Given the description of an element on the screen output the (x, y) to click on. 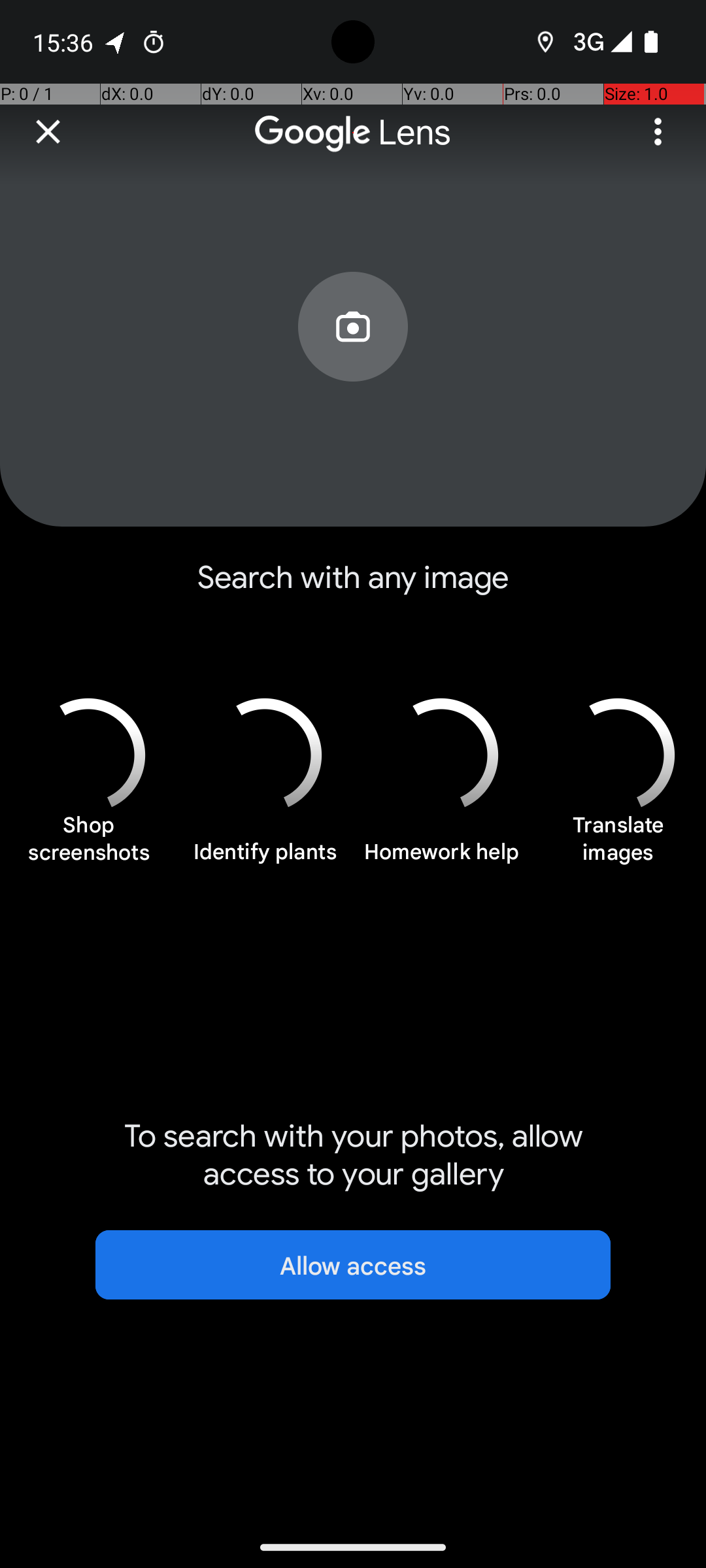
Search with your camera Element type: android.widget.FrameLayout (353, 356)
Search with any image Element type: android.widget.TextView (353, 587)
Shop screenshots Element type: android.widget.TextView (88, 845)
Identify plants Element type: android.widget.TextView (264, 858)
Homework help Element type: android.widget.TextView (441, 858)
Translate images Element type: android.widget.TextView (617, 845)
To search with your photos, allow access to your gallery Element type: android.widget.TextView (352, 1154)
Allow access Element type: android.widget.Button (352, 1264)
